Given the description of an element on the screen output the (x, y) to click on. 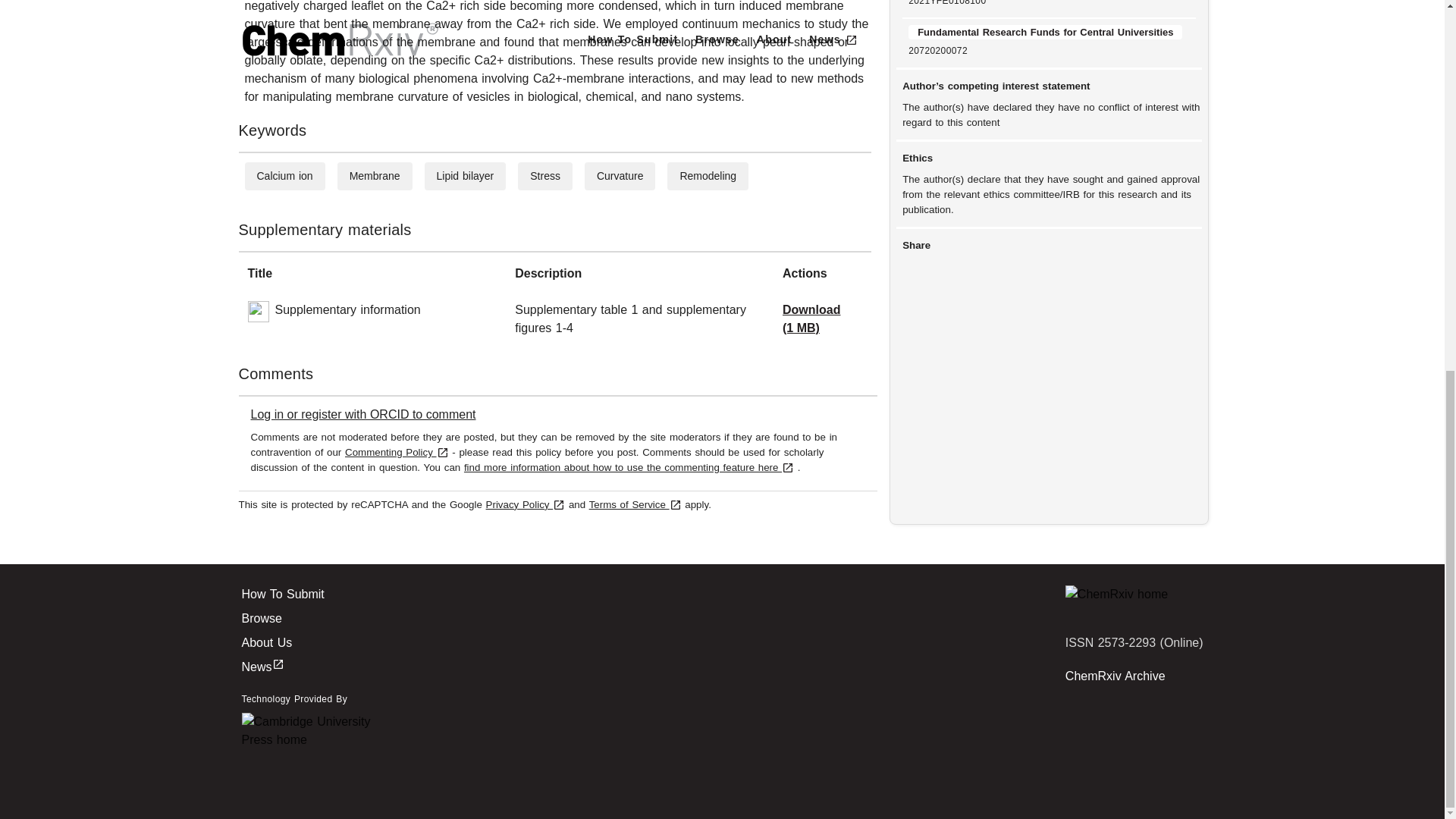
Stress (544, 175)
Lipid bilayer (465, 175)
Curvature (619, 175)
Membrane (374, 175)
Calcium ion (284, 175)
Log in or register with ORCID to comment (363, 414)
Remodeling (707, 175)
